Given the description of an element on the screen output the (x, y) to click on. 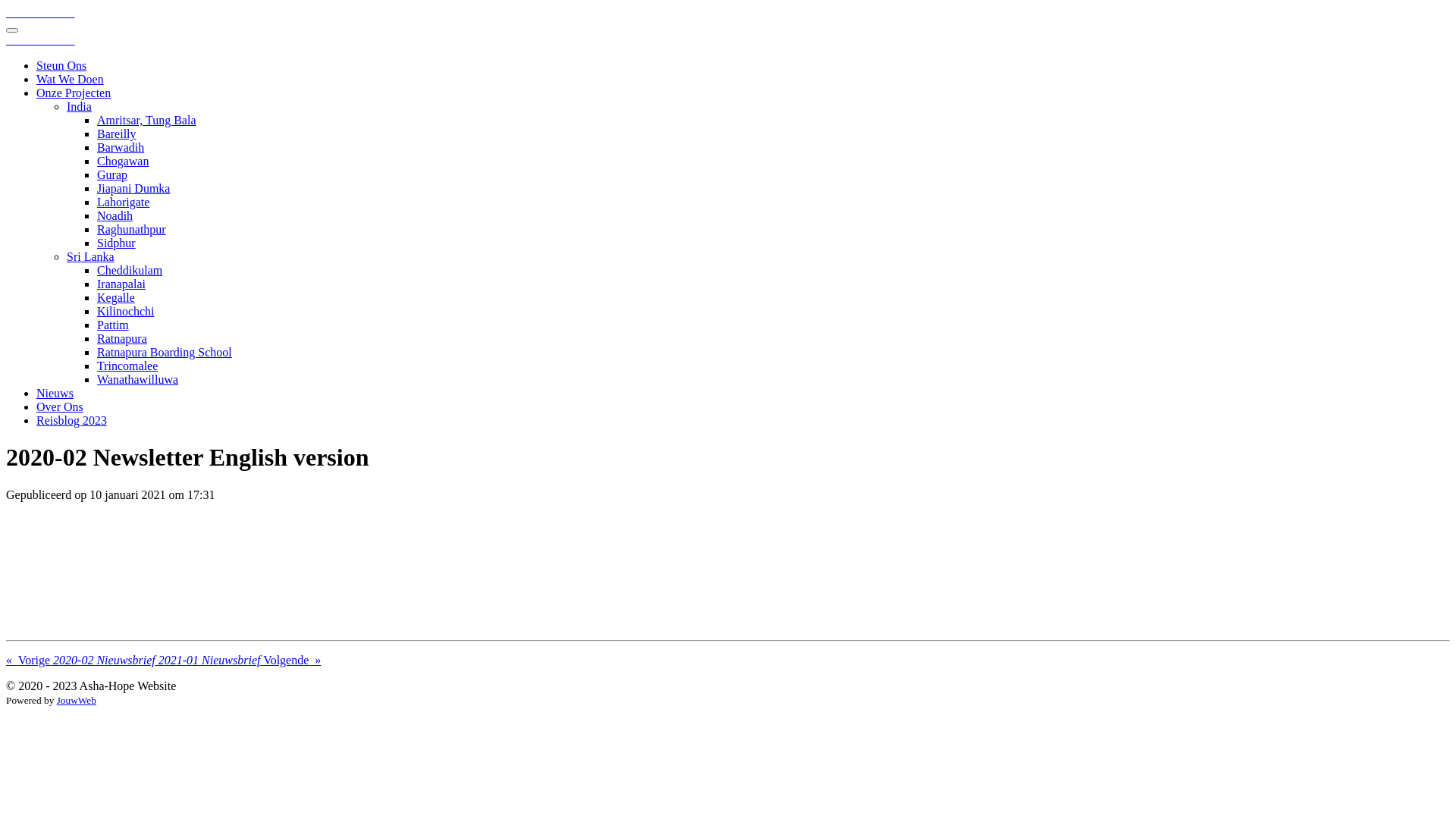
Ratnapura Element type: text (122, 338)
Steun Ons Element type: text (61, 65)
Onze Projecten Element type: text (73, 92)
Bareilly Element type: text (116, 133)
Lahorigate Element type: text (123, 201)
Iranapalai Element type: text (121, 283)
Jiapani Dumka Element type: text (133, 188)
Kegalle Element type: text (115, 297)
Barwadih Element type: text (120, 147)
Raghunathpur Element type: text (131, 228)
Reisblog 2023 Element type: text (71, 420)
Sri Lanka Element type: text (90, 256)
Ratnapura Boarding School Element type: text (164, 351)
Over Ons Element type: text (59, 406)
Nieuws Element type: text (54, 392)
Wat We Doen Element type: text (69, 78)
ASHA-HOPE Element type: text (40, 39)
JouwWeb Element type: text (76, 700)
Trincomalee Element type: text (127, 365)
Chogawan Element type: text (122, 160)
Amritsar, Tung Bala Element type: text (146, 119)
India Element type: text (78, 106)
Kilinochchi Element type: text (125, 310)
Gurap Element type: text (112, 174)
Pattim Element type: text (112, 324)
Cheddikulam Element type: text (129, 269)
Noadih Element type: text (114, 215)
Wanathawilluwa Element type: text (137, 379)
ASHA-HOPE Element type: text (40, 12)
Sidphur Element type: text (116, 242)
